Given the description of an element on the screen output the (x, y) to click on. 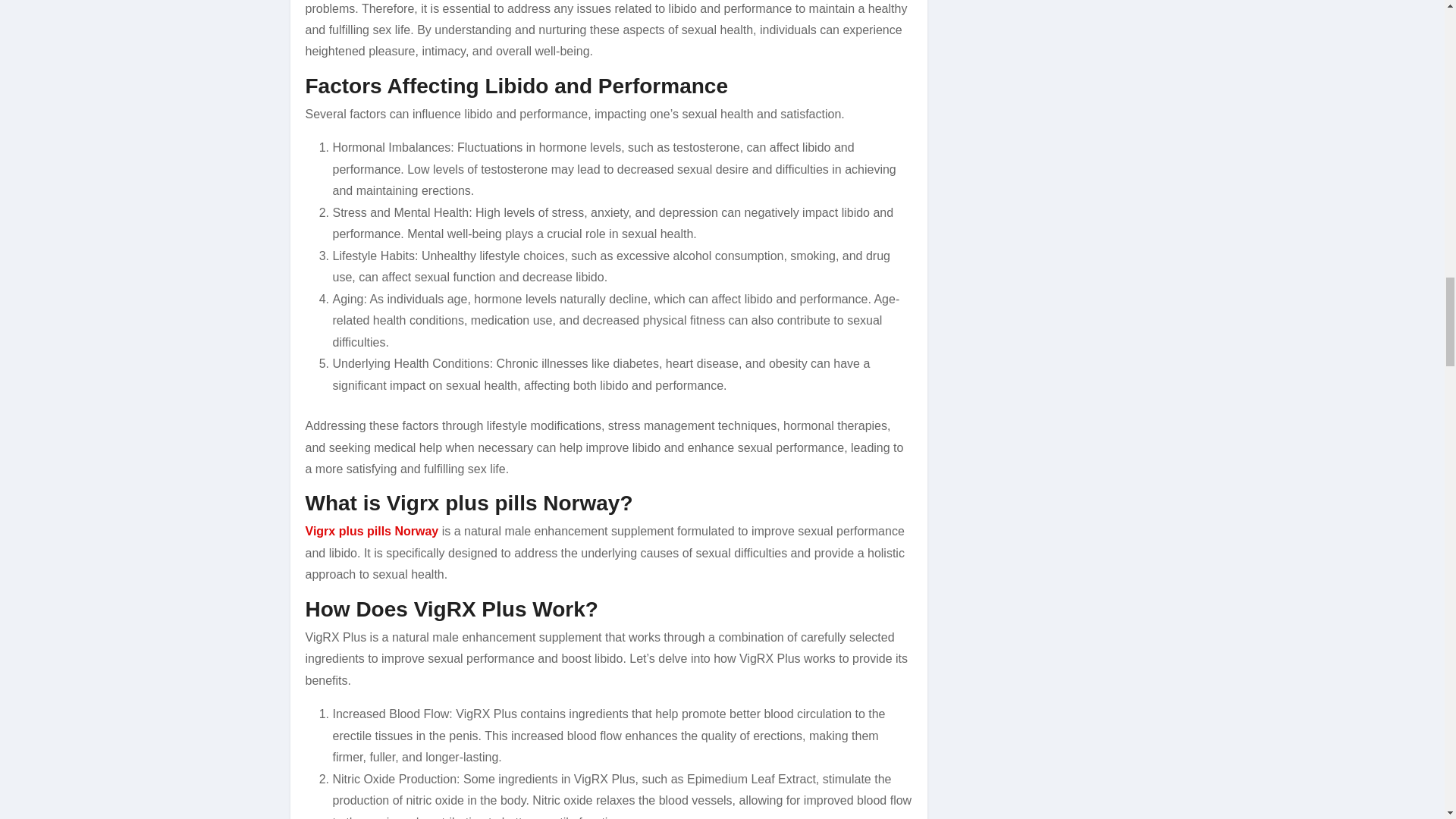
Vigrx plus pills Norway (371, 530)
